Given the description of an element on the screen output the (x, y) to click on. 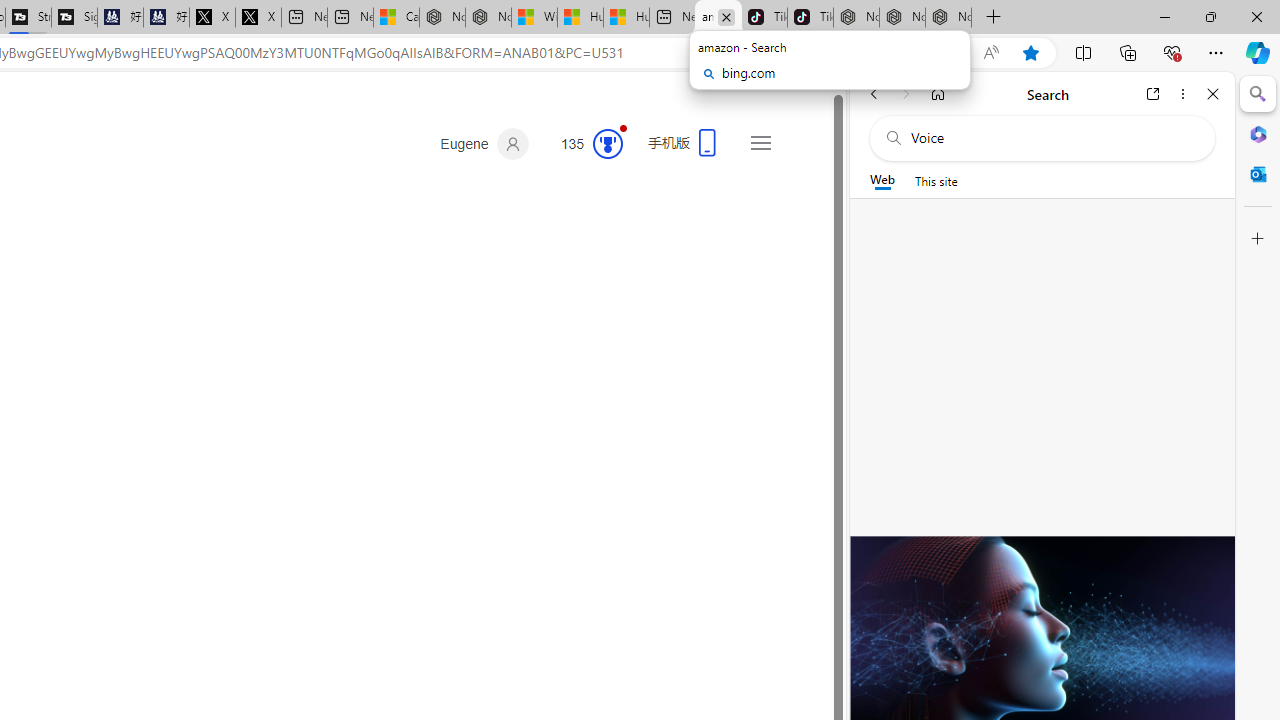
amazon - Search (718, 17)
Nordace - Siena Pro 15 Essential Set (948, 17)
Settings and quick links (760, 142)
TikTok (810, 17)
Open link in new tab (1153, 93)
This site scope (936, 180)
Forward (906, 93)
